Given the description of an element on the screen output the (x, y) to click on. 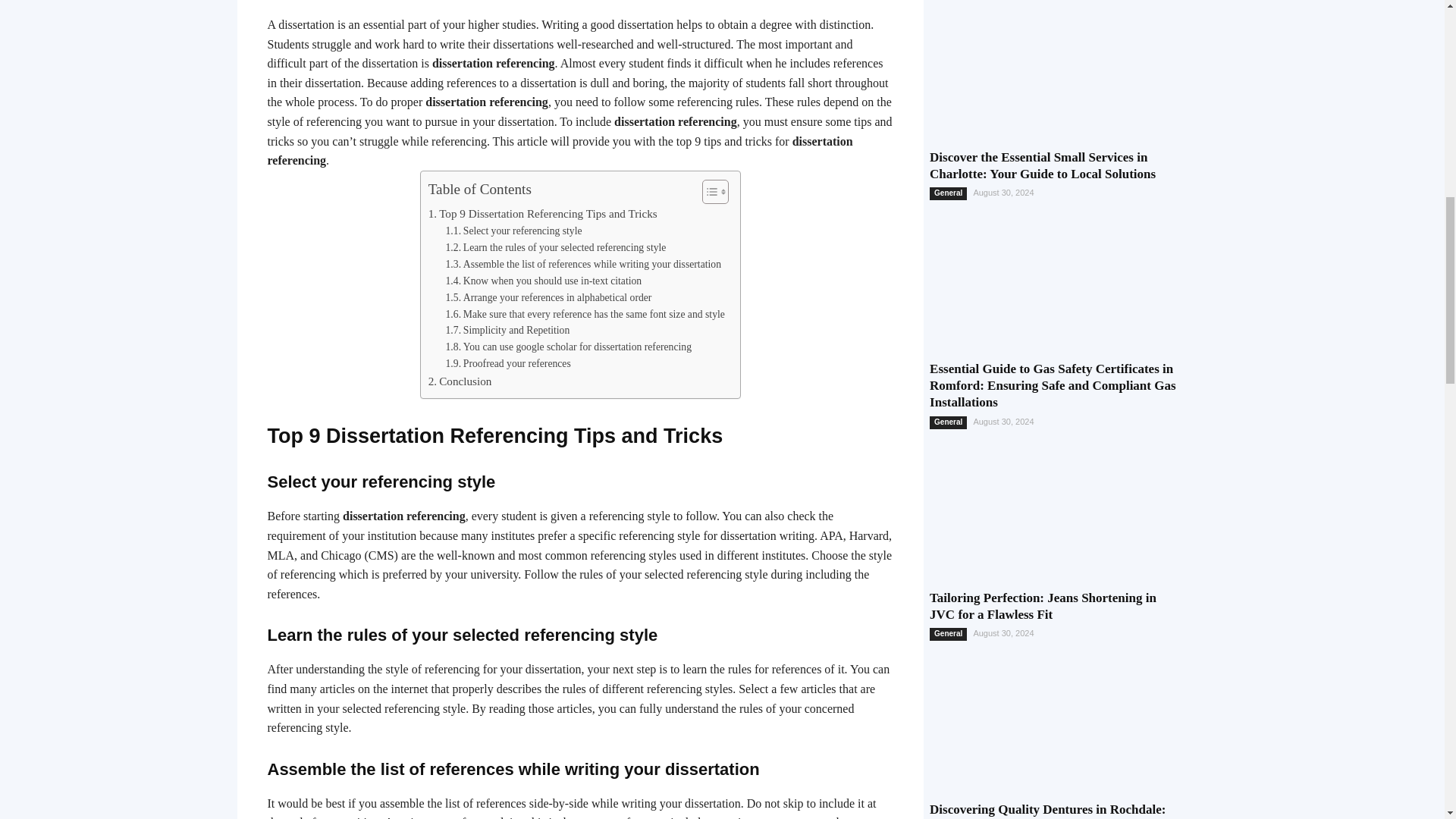
Know when you should use in-text citation (543, 280)
Simplicity and Repetition (507, 330)
You can use google scholar for dissertation referencing (568, 347)
Learn the rules of your selected referencing style (555, 247)
Top 9 Dissertation Referencing Tips and Tricks (543, 213)
Select your referencing style (513, 230)
Arrange your references in alphabetical order (548, 297)
